Given the description of an element on the screen output the (x, y) to click on. 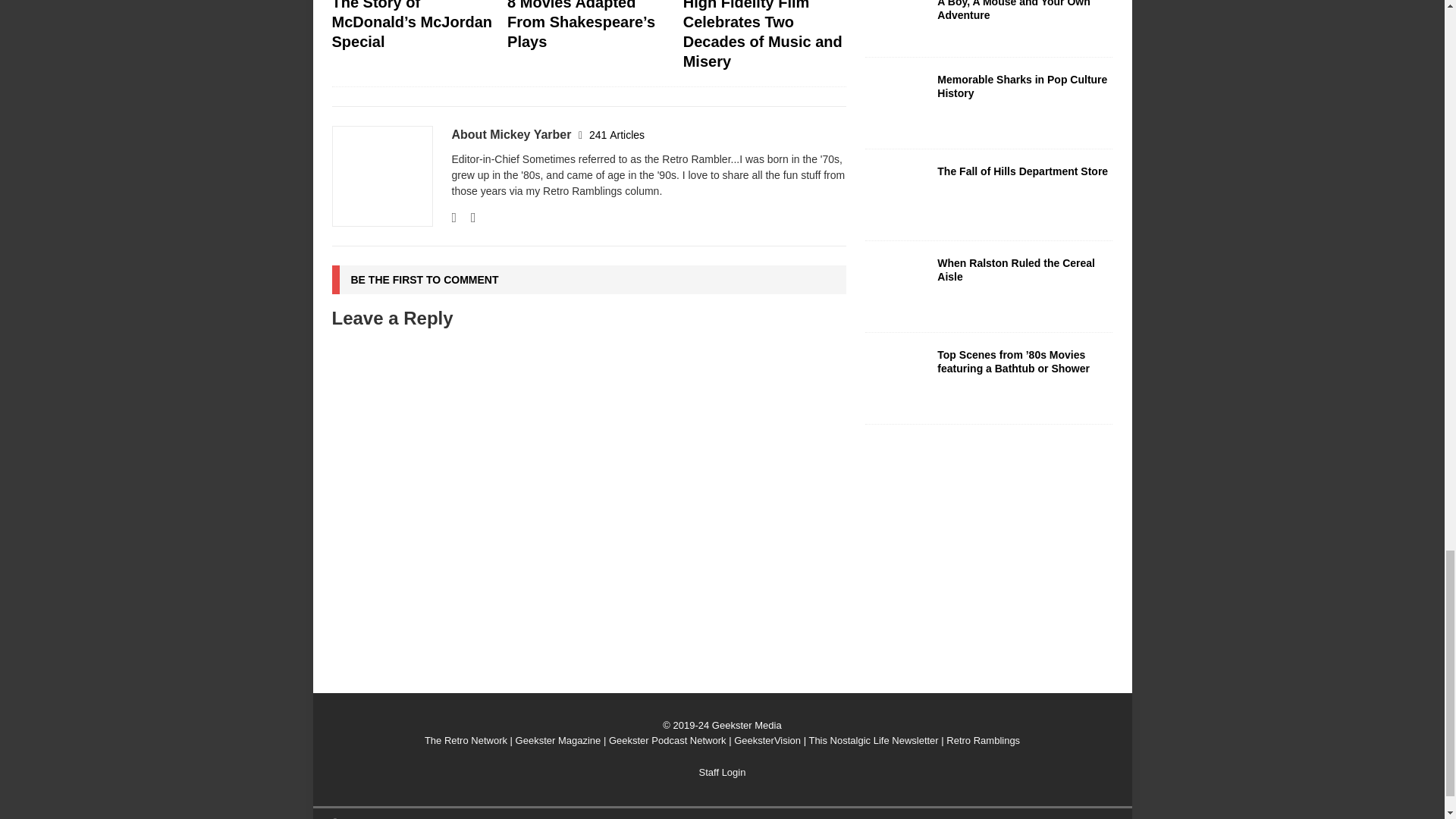
Visit the website of Mickey Yarber (454, 217)
More articles written by Mickey Yarber' (617, 134)
Follow Mickey Yarber on Twitter (468, 217)
